Given the description of an element on the screen output the (x, y) to click on. 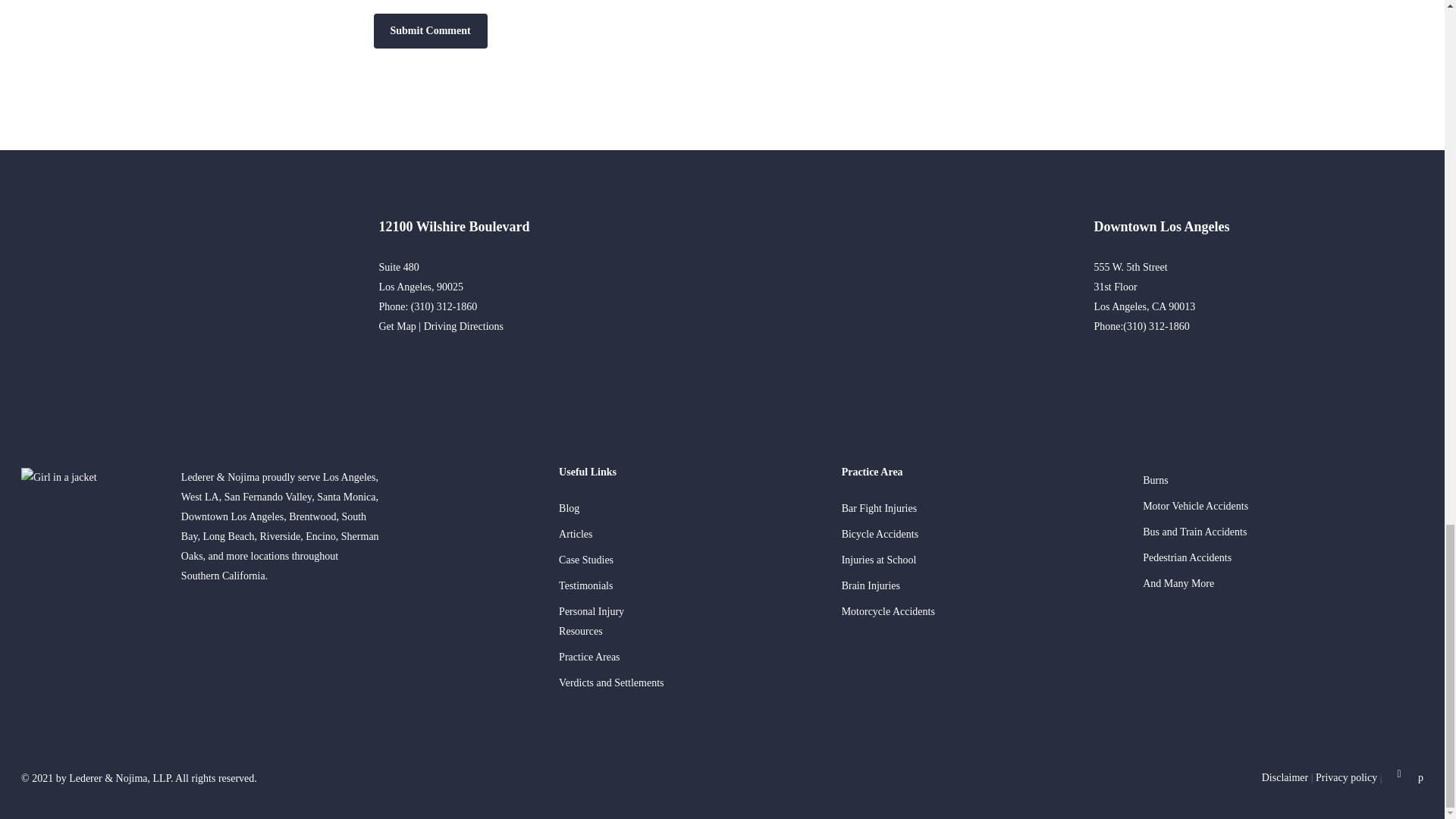
Articles (686, 534)
Blog (686, 508)
Case Studies (686, 560)
Submit Comment (429, 30)
Submit Comment (429, 30)
